Given the description of an element on the screen output the (x, y) to click on. 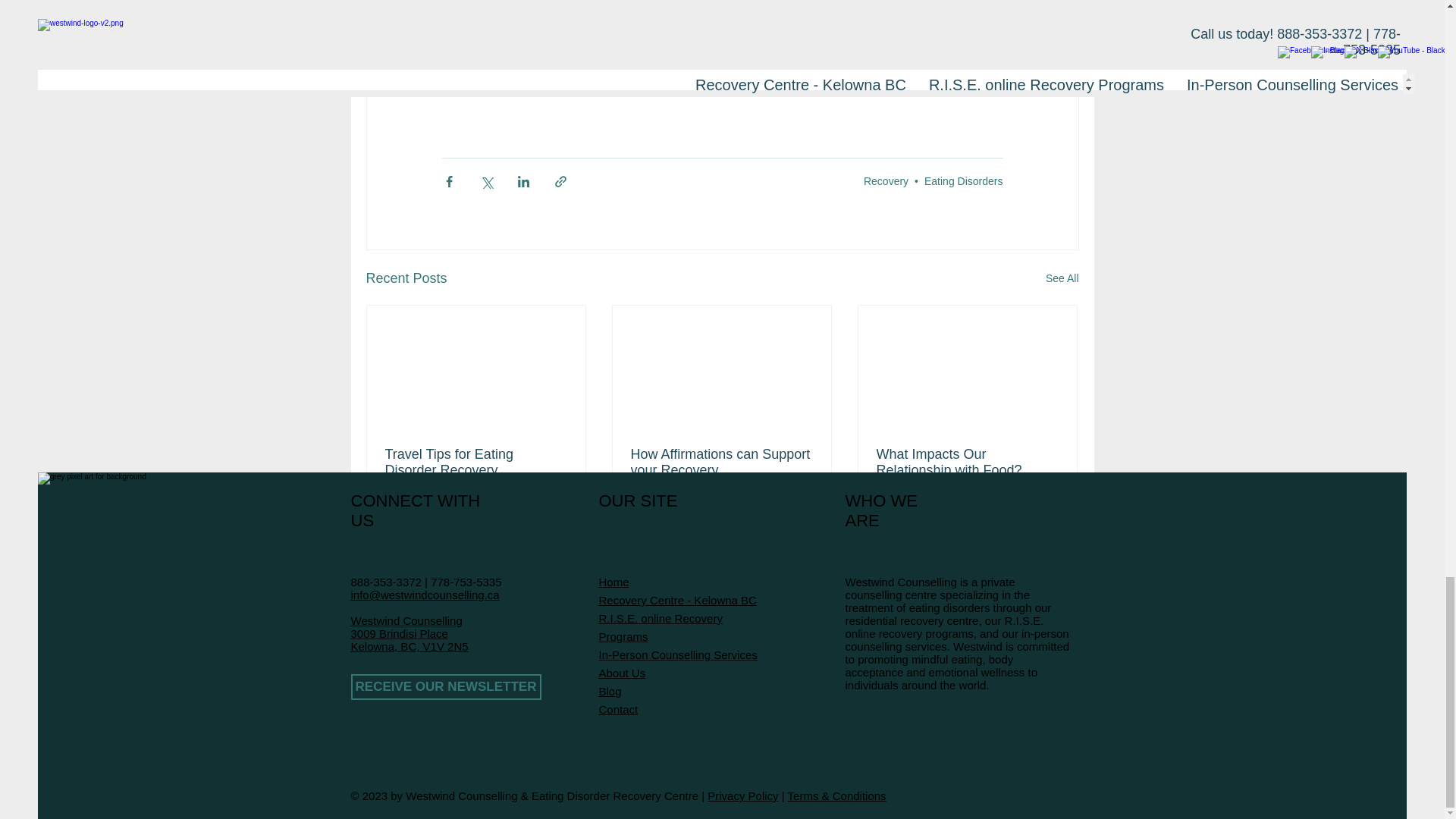
CONNECT WITH US (415, 510)
How Affirmations can Support your Recovery (721, 462)
Home (613, 581)
Eating Disorders (963, 180)
What Impacts Our Relationship with Food? (967, 462)
See All (1061, 278)
Recovery (885, 180)
Travel Tips for Eating Disorder Recovery (476, 462)
